Given the description of an element on the screen output the (x, y) to click on. 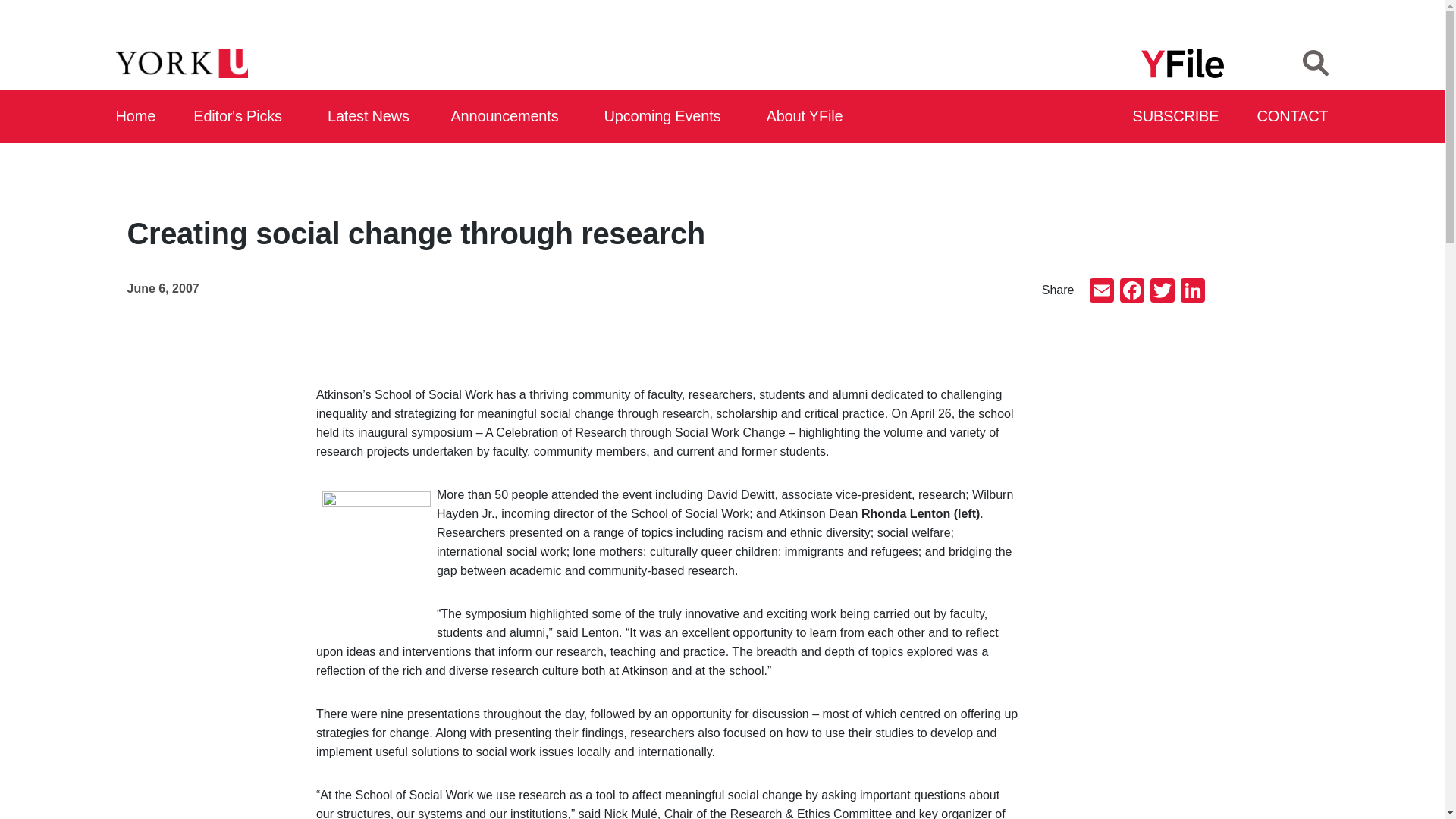
Upcoming Events (667, 116)
Email (1101, 292)
Upcoming Events (667, 116)
Editor's Picks (242, 116)
About YFile (806, 116)
Contact (1293, 116)
Facebook (1131, 292)
Announcements (508, 116)
Editor's Picks (242, 116)
Latest News (370, 116)
Email (1101, 292)
Latest News (370, 116)
CONTACT (1293, 116)
SUBSCRIBE (1176, 116)
Home (136, 116)
